Given the description of an element on the screen output the (x, y) to click on. 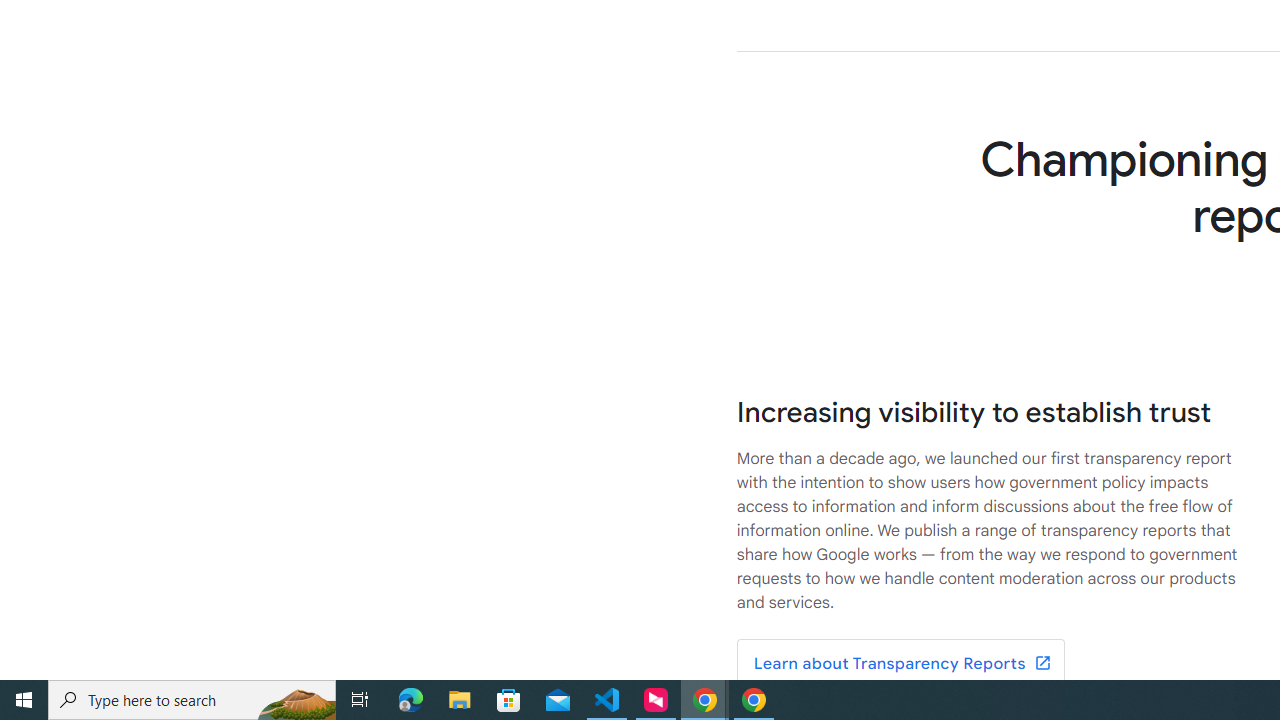
Go to Transparency Report About web page (900, 664)
